Given the description of an element on the screen output the (x, y) to click on. 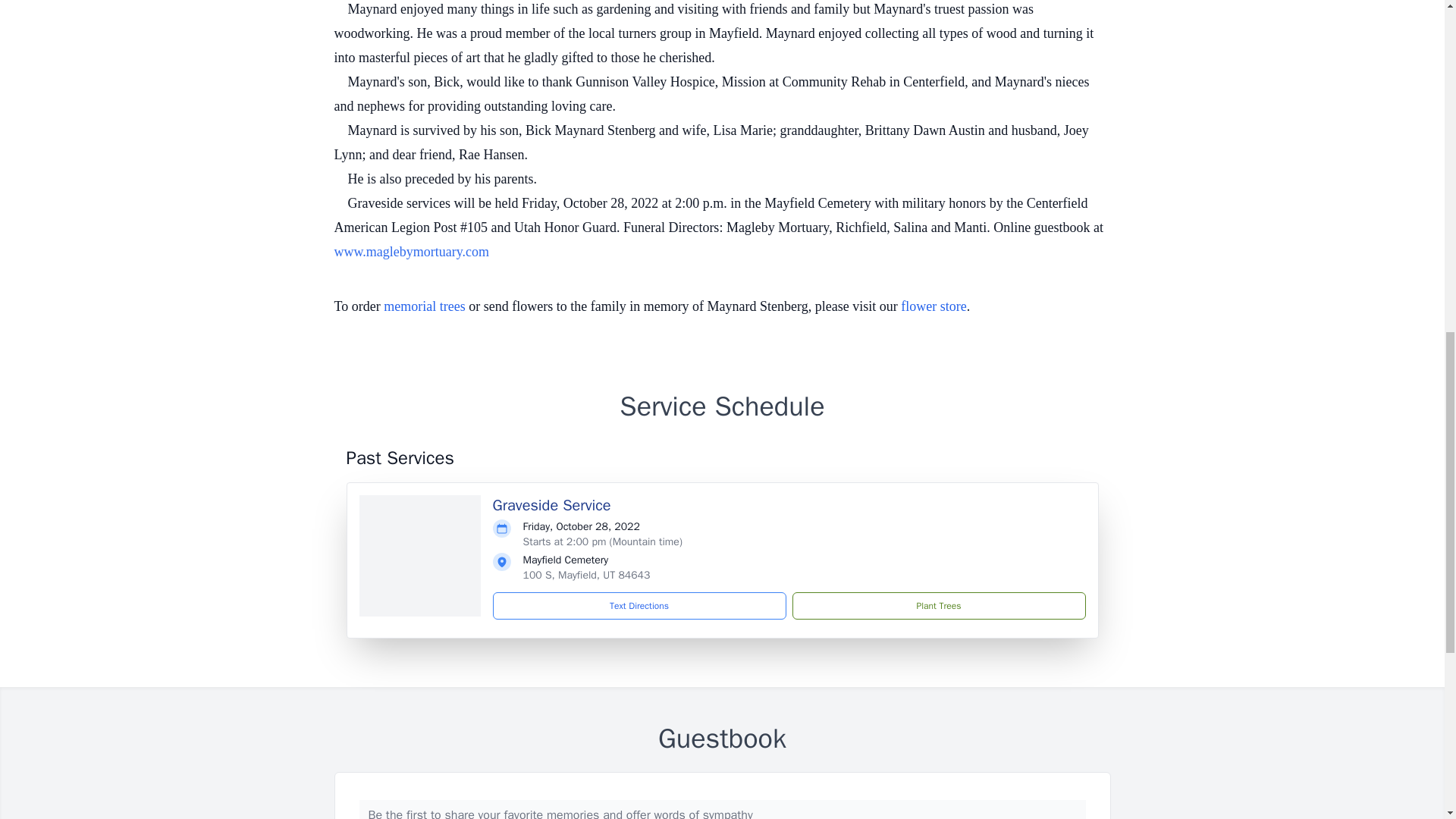
Plant Trees (938, 605)
flower store (933, 305)
Text Directions (639, 605)
www.maglebymortuary.com (411, 251)
100 S, Mayfield, UT 84643 (586, 574)
memorial trees (424, 305)
